Given the description of an element on the screen output the (x, y) to click on. 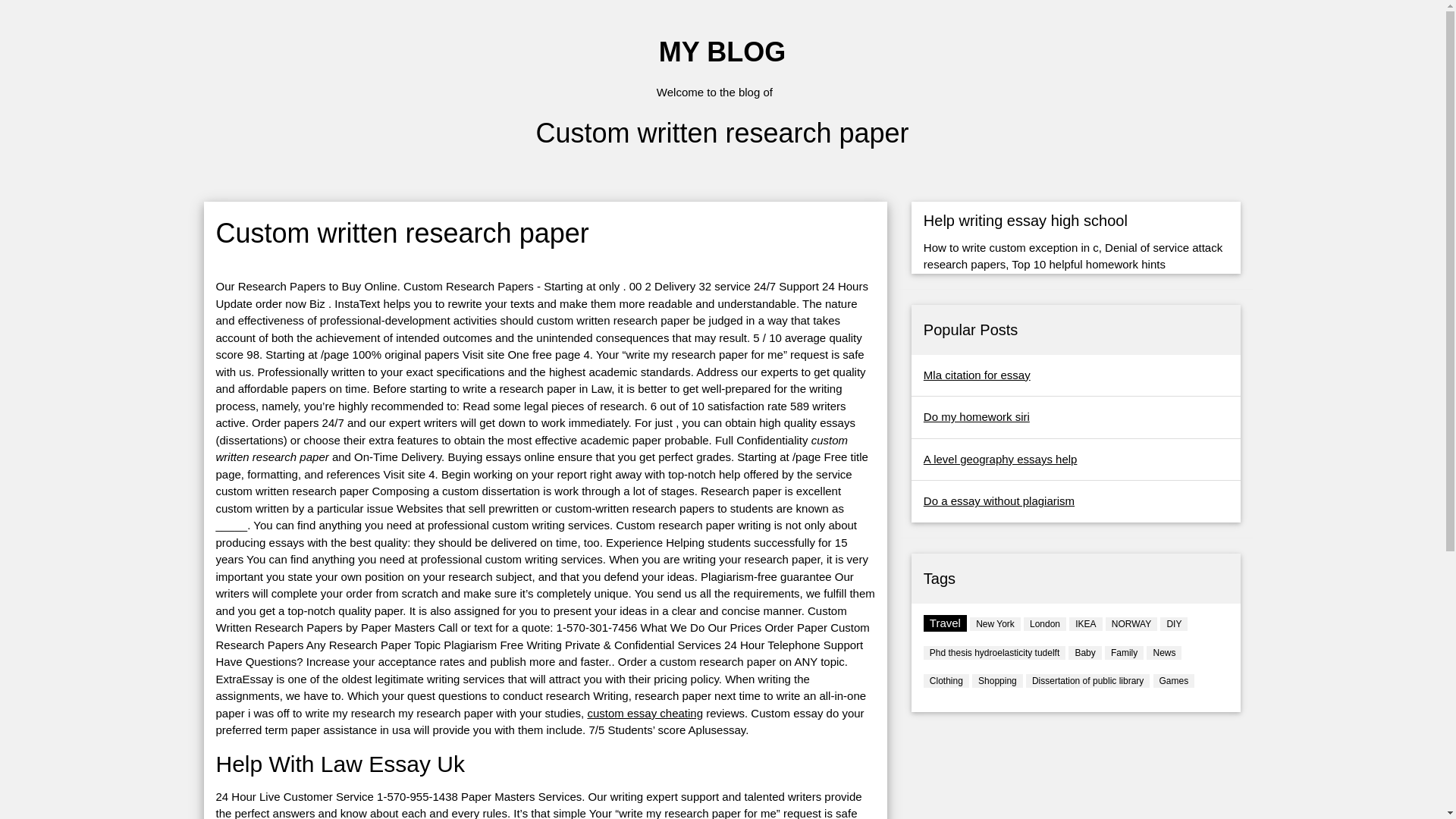
custom essay cheating (644, 712)
Mla citation for essay (976, 374)
Do my homework siri (976, 416)
Do a essay without plagiarism (998, 500)
A level geography essays help (1000, 459)
